Given the description of an element on the screen output the (x, y) to click on. 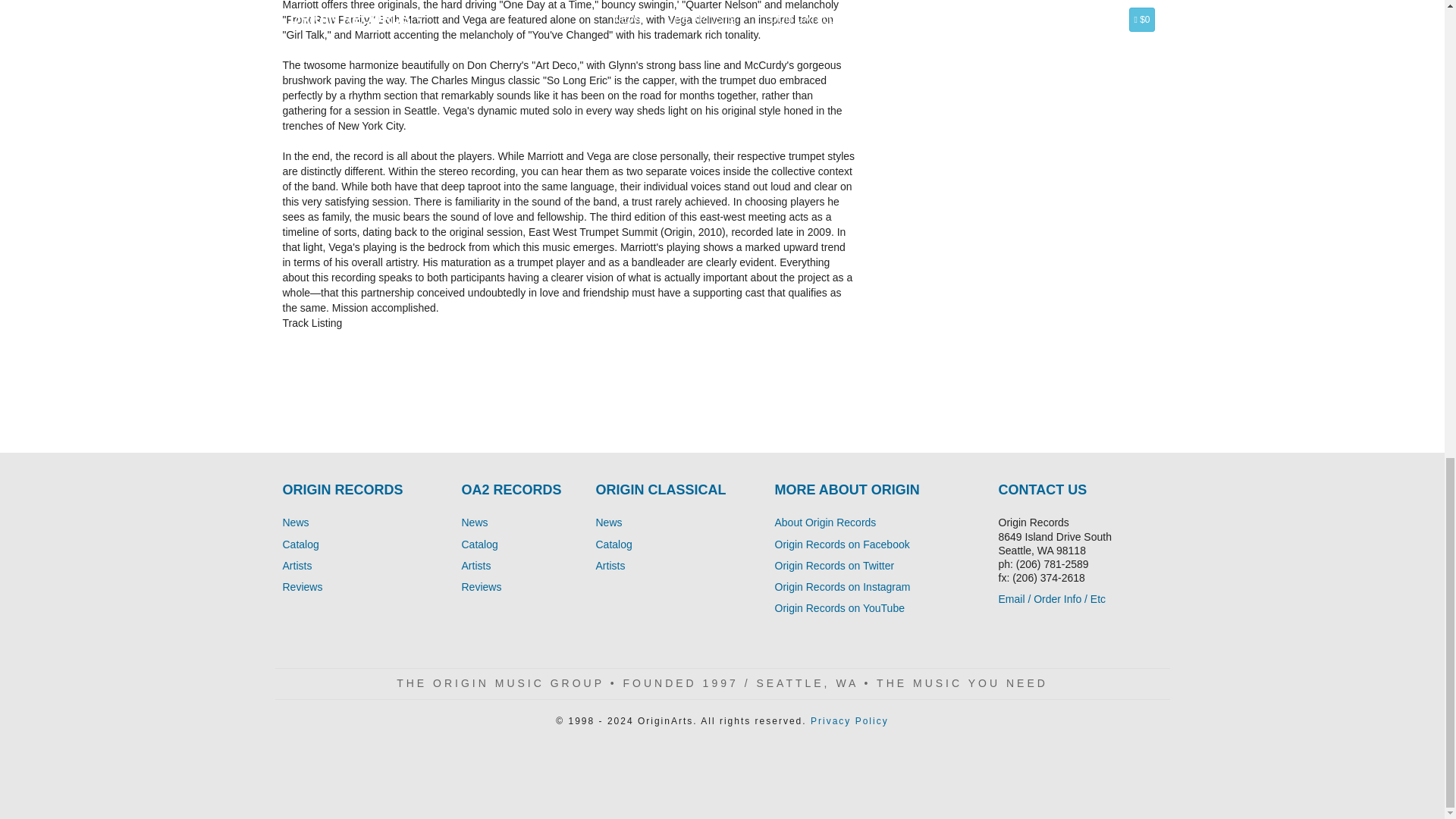
OA2 Records Artists (475, 565)
News (474, 522)
Catalog (300, 544)
Origin Records on Twitter (834, 565)
Origin Records Artists (296, 565)
News (295, 522)
Artists (296, 565)
Artists (610, 565)
Origin Records Catalog (300, 544)
Artists (475, 565)
